Given the description of an element on the screen output the (x, y) to click on. 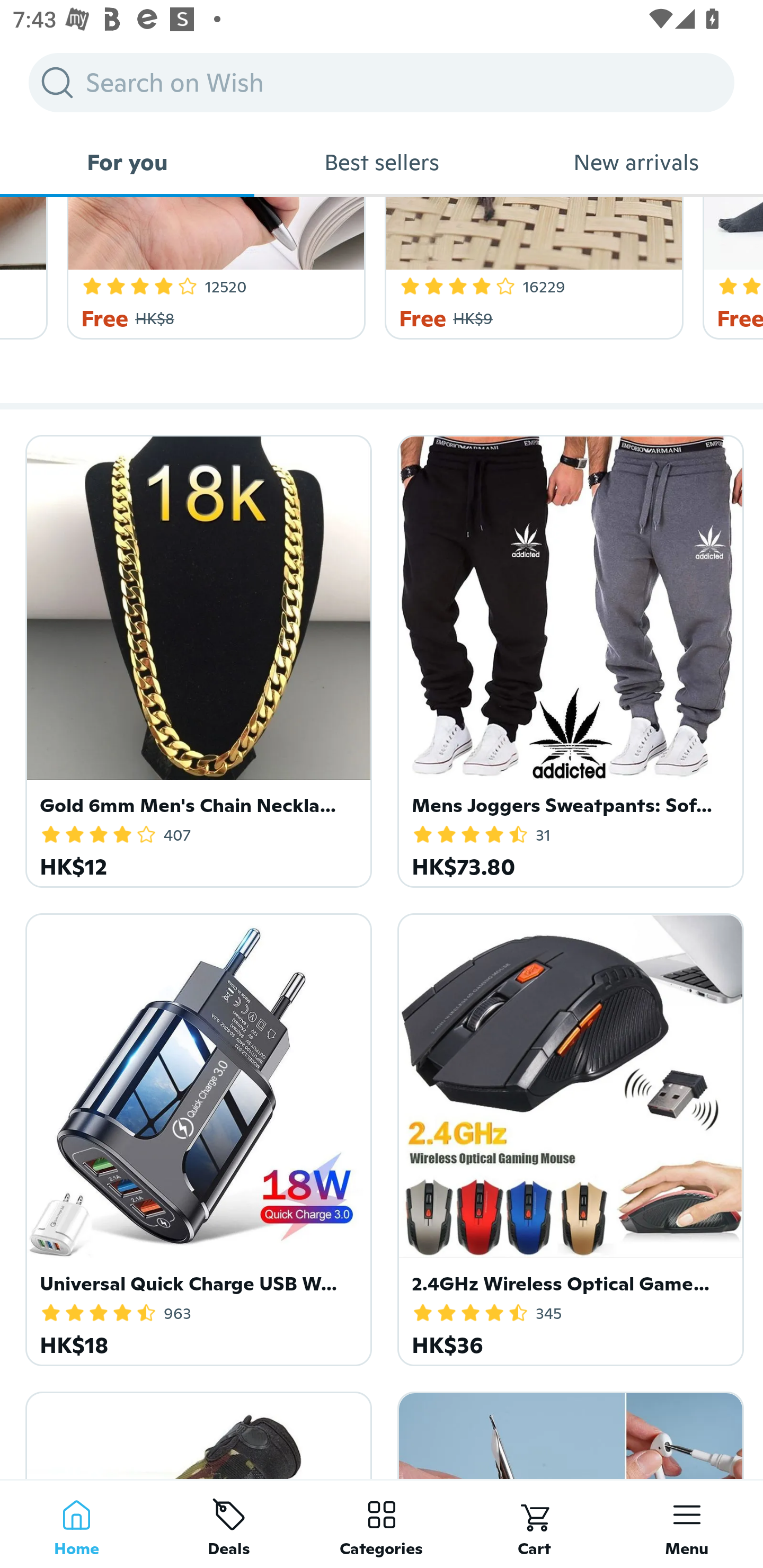
Search on Wish (381, 82)
For you (127, 161)
Best sellers (381, 161)
New arrivals (635, 161)
3.9 Star Rating 12520 Free HK$8 (212, 268)
3.8 Star Rating 16229 Free HK$9 (530, 268)
Home (76, 1523)
Deals (228, 1523)
Categories (381, 1523)
Cart (533, 1523)
Menu (686, 1523)
